Given the description of an element on the screen output the (x, y) to click on. 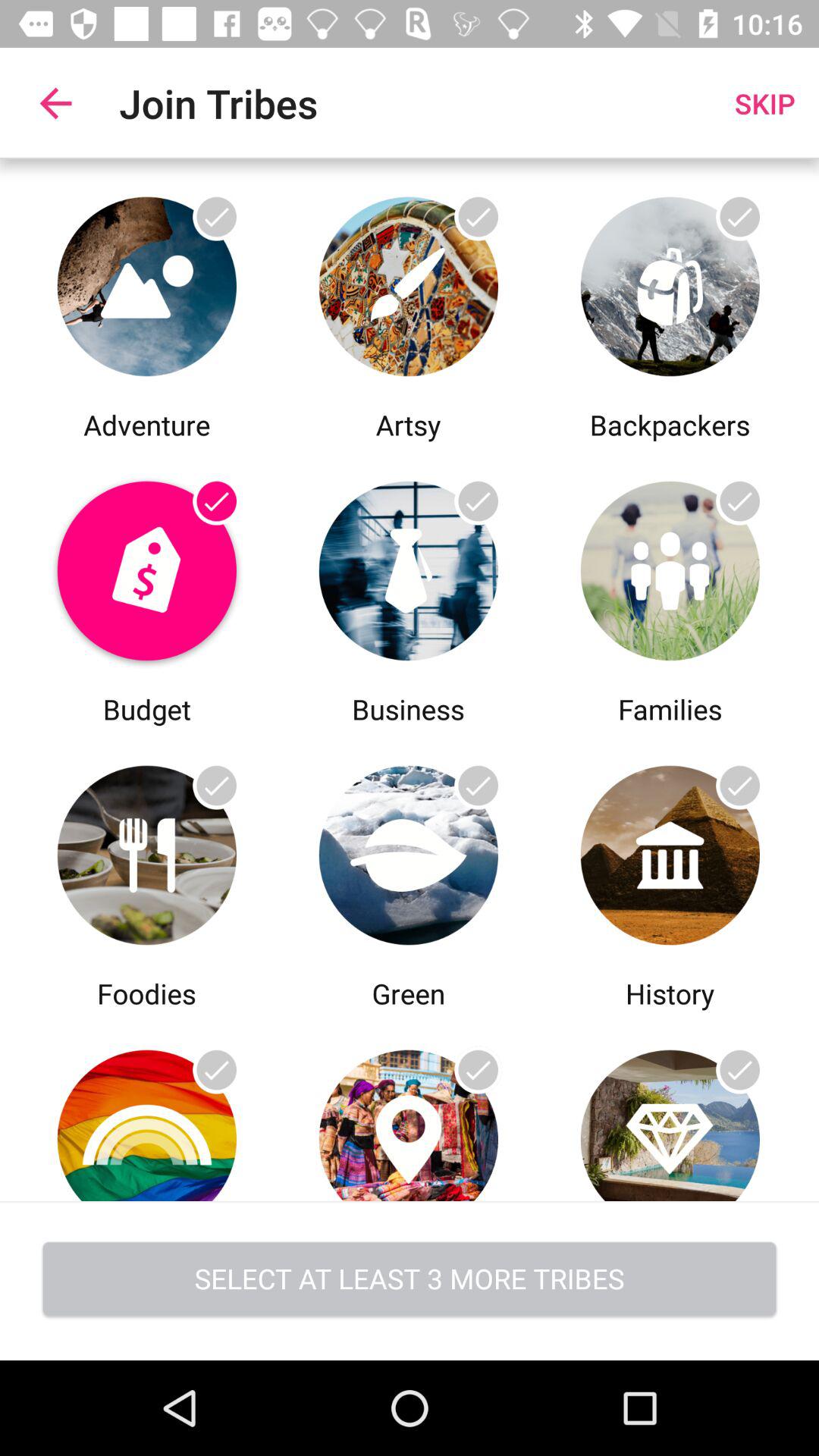
choose this trib (669, 1106)
